Given the description of an element on the screen output the (x, y) to click on. 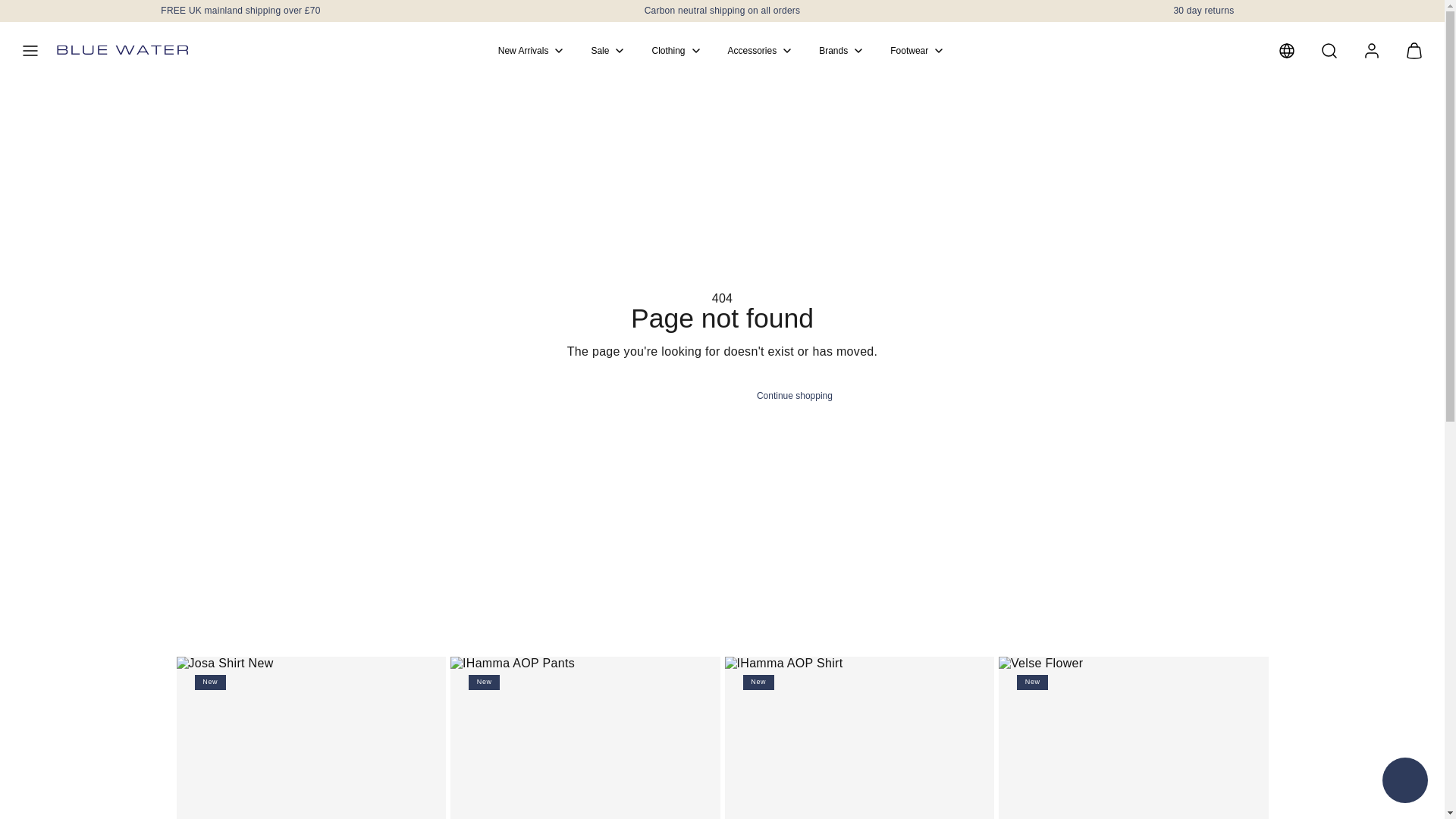
Footwear (917, 50)
Brands (842, 50)
Clothing (676, 50)
Sale (608, 50)
New Arrivals (532, 50)
Accessories (762, 50)
Account (1372, 50)
Menu (29, 50)
Search (1329, 50)
